Given the description of an element on the screen output the (x, y) to click on. 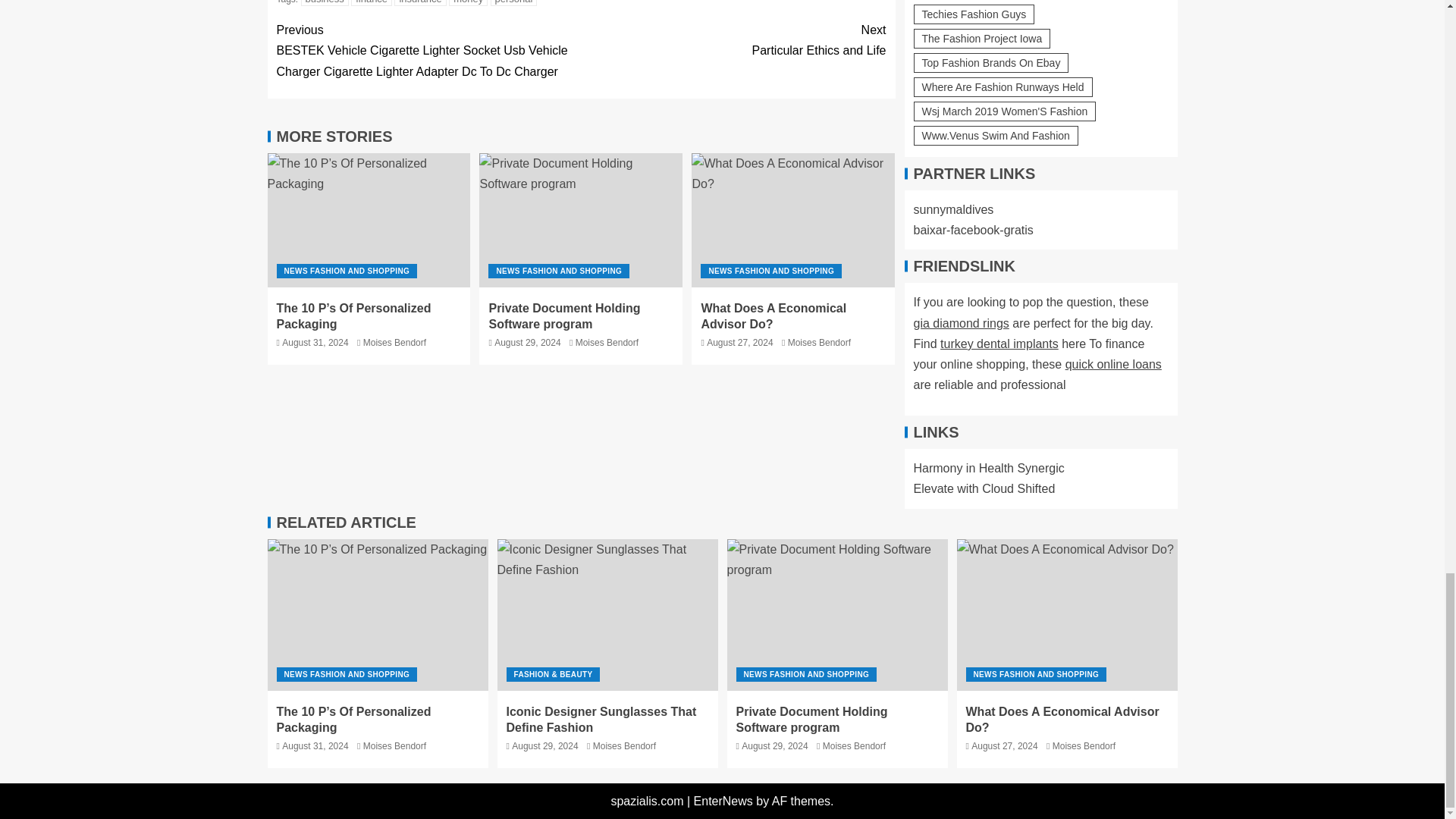
Moises Bendorf (607, 342)
Moises Bendorf (394, 342)
personal (513, 2)
Private Document Holding Software program (563, 316)
NEWS FASHION AND SHOPPING (346, 270)
NEWS FASHION AND SHOPPING (557, 270)
Private Document Holding Software program (836, 614)
business (325, 2)
insurance (419, 2)
Private Document Holding Software program (580, 220)
